Given the description of an element on the screen output the (x, y) to click on. 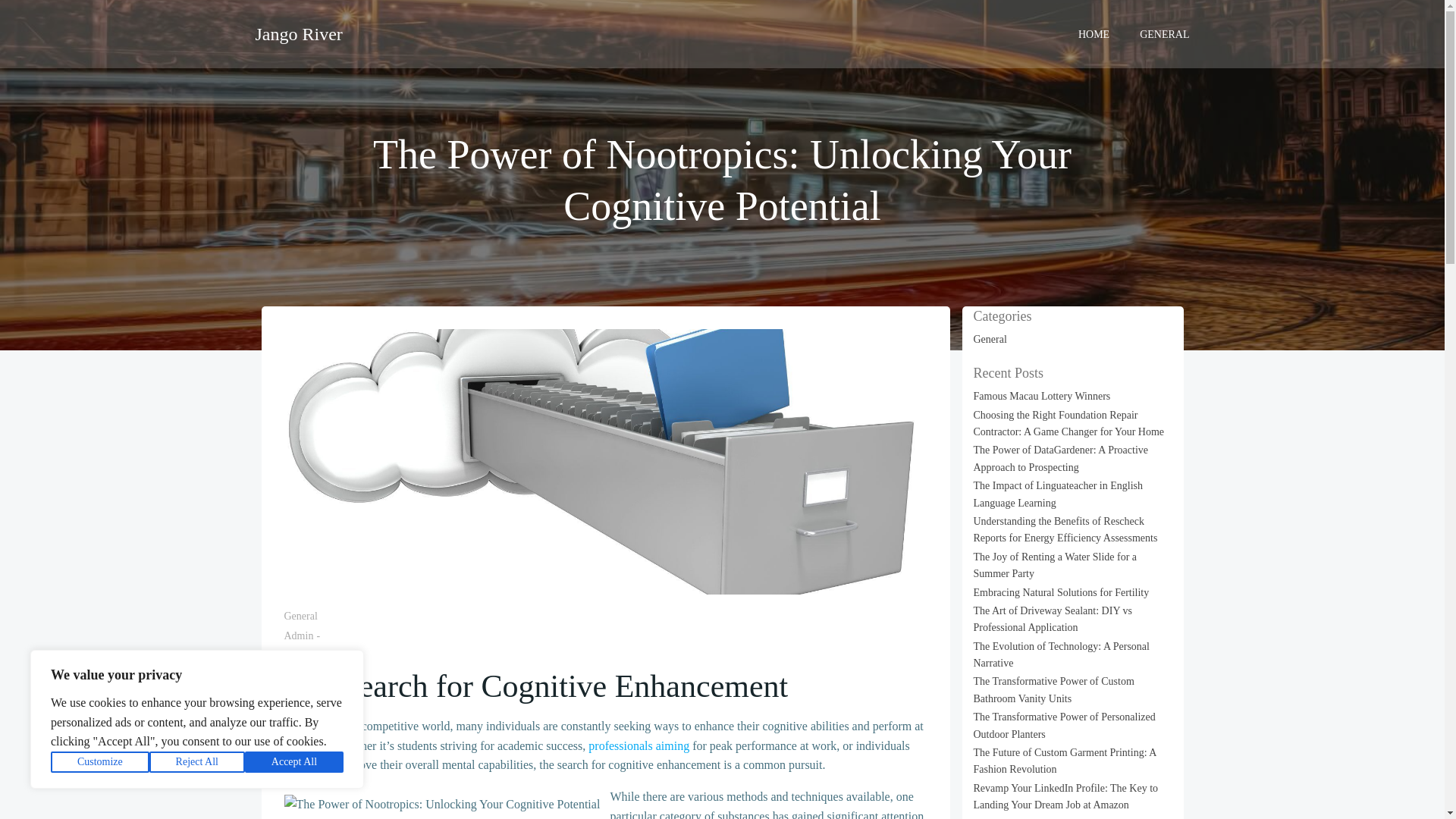
professionals aiming (638, 745)
Admin (298, 635)
Reject All (196, 762)
General (300, 616)
HOME (1093, 33)
The Timeless Elegance of Limoges Porcelain (1070, 396)
Accept All (293, 762)
Customize (99, 762)
Jango River (298, 33)
GENERAL (1164, 33)
General (990, 338)
Unveiling the Art of Hand-Painting Limoges Porcelain (1068, 423)
